Given the description of an element on the screen output the (x, y) to click on. 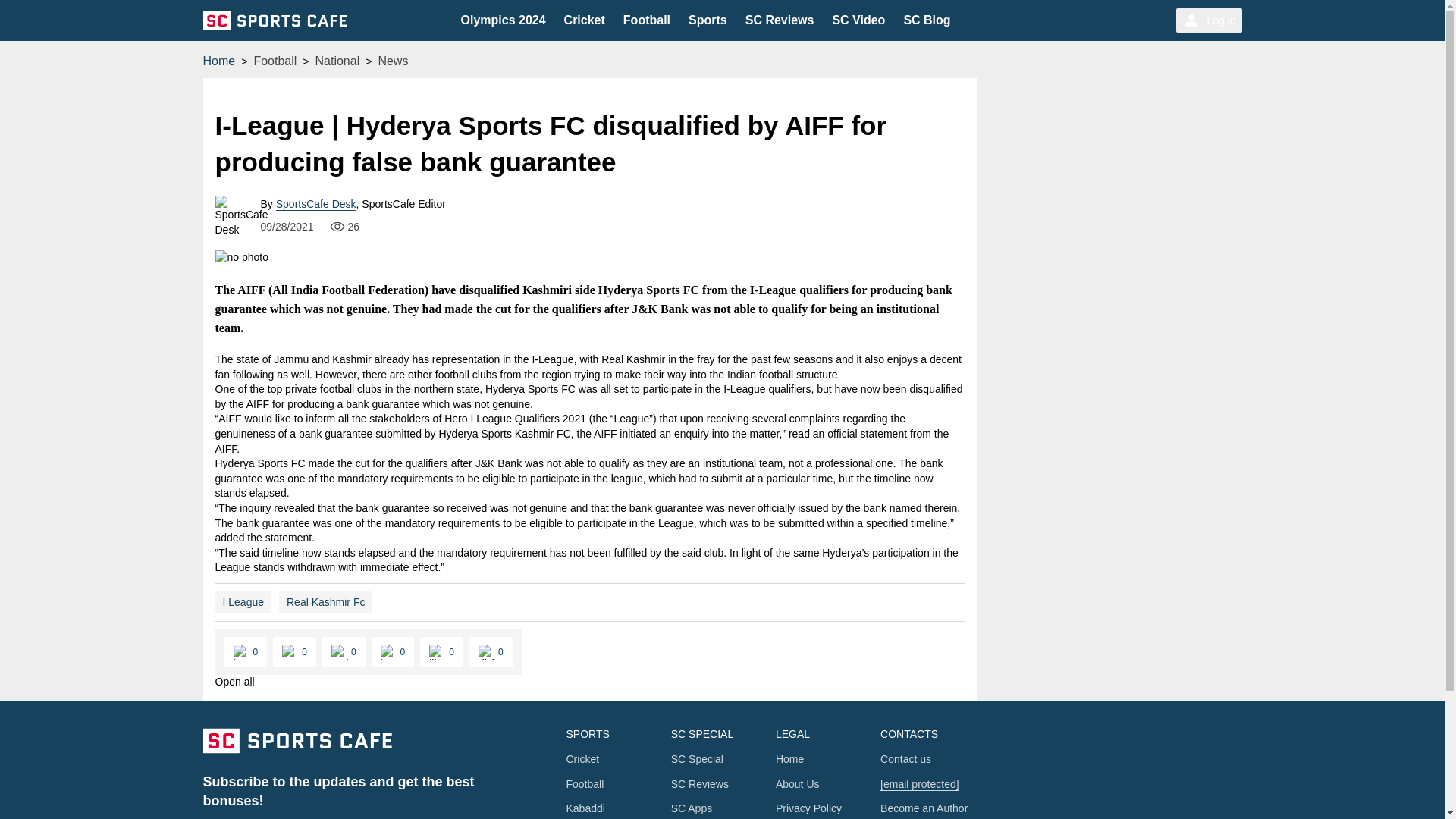
Sports (707, 19)
Olympics 2024 (503, 19)
Football (646, 19)
Cricket (584, 19)
